Given the description of an element on the screen output the (x, y) to click on. 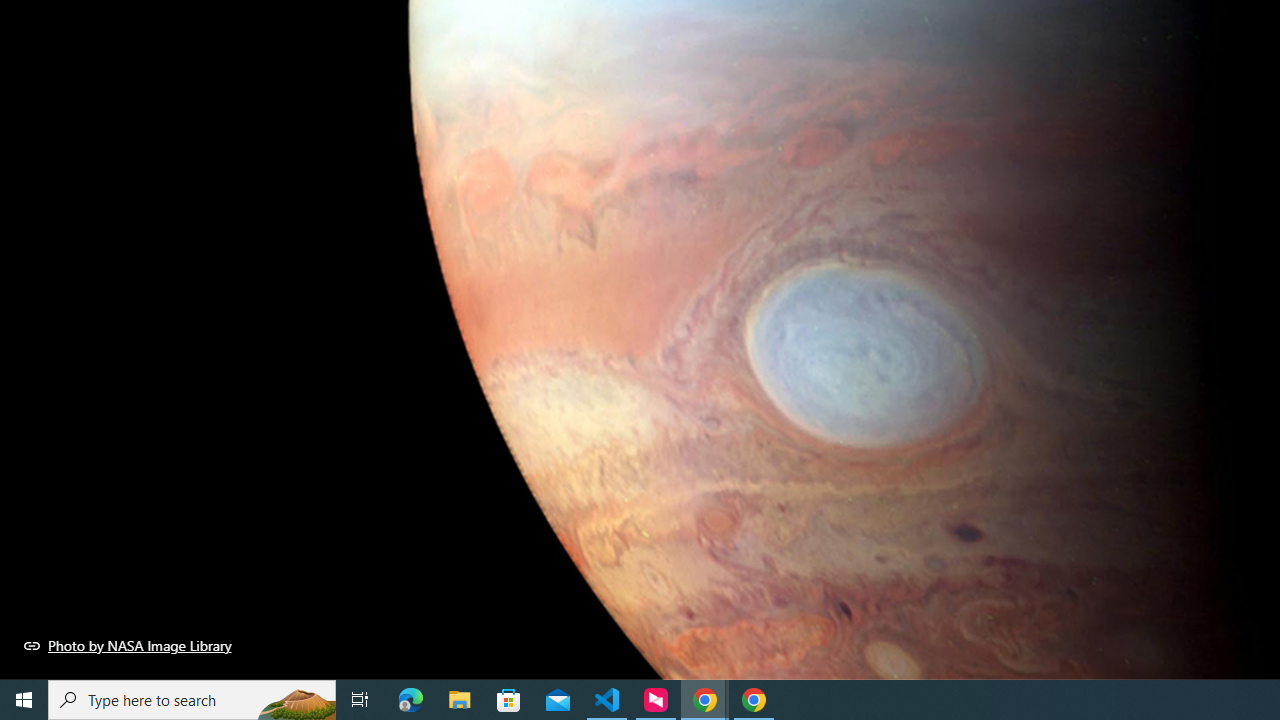
Photo by NASA Image Library (127, 645)
